Given the description of an element on the screen output the (x, y) to click on. 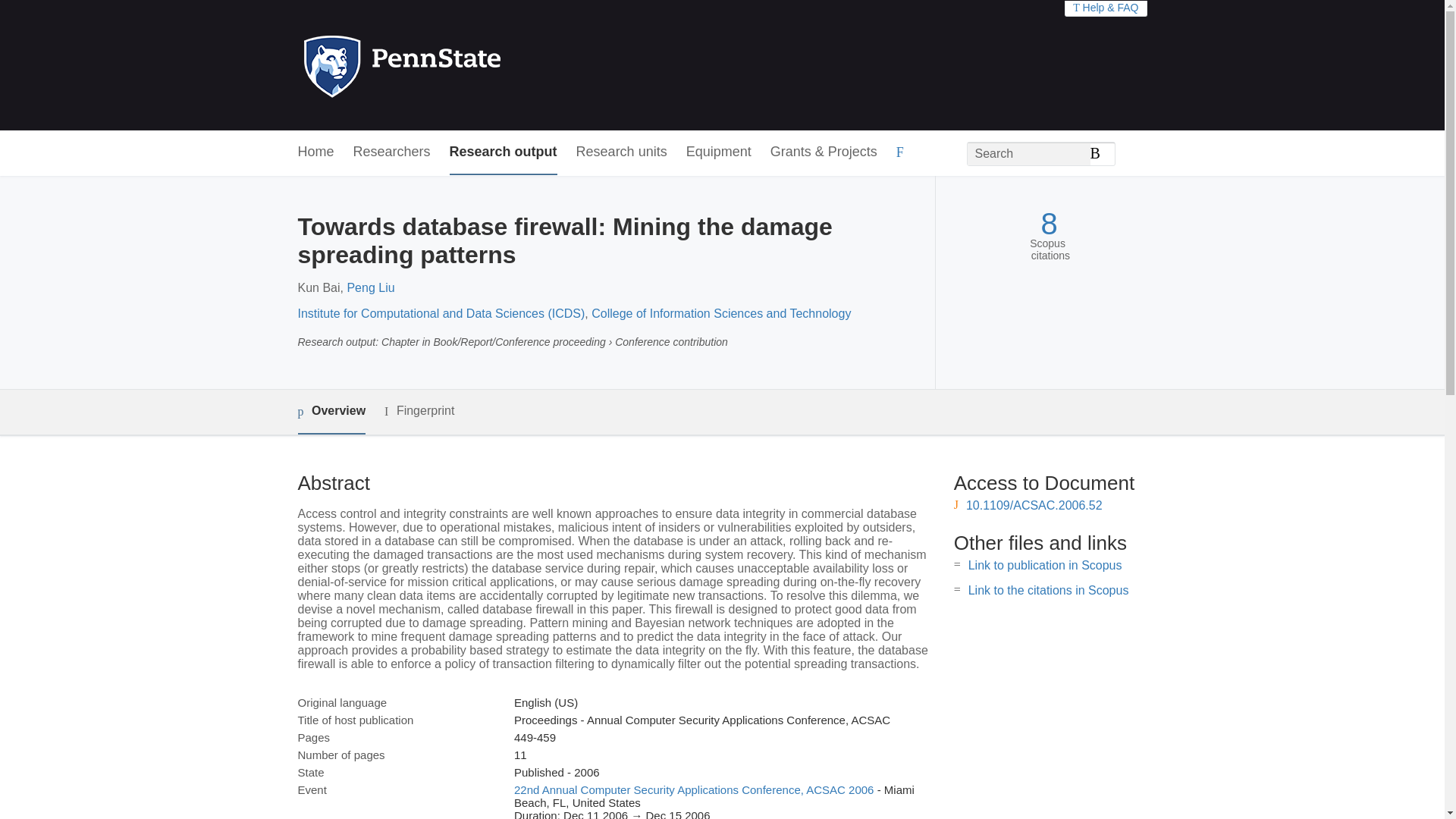
Link to the citations in Scopus (1048, 590)
Link to publication in Scopus (1045, 564)
Overview (331, 411)
College of Information Sciences and Technology (720, 313)
Equipment (718, 152)
Researchers (391, 152)
Research output (503, 152)
Penn State Home (467, 65)
Fingerprint (419, 411)
Research units (621, 152)
Peng Liu (370, 287)
